Given the description of an element on the screen output the (x, y) to click on. 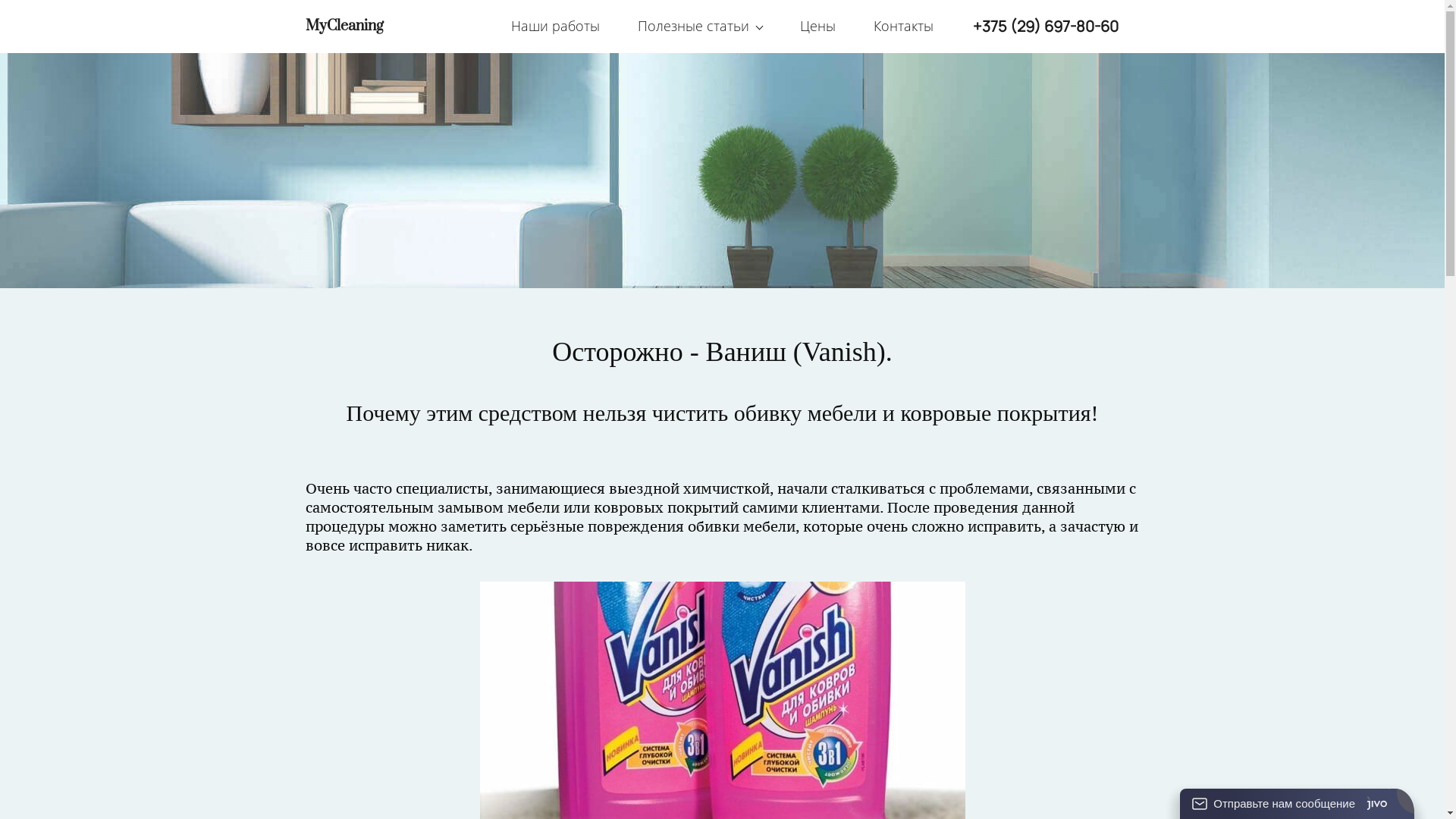
MyCleaning Element type: text (343, 25)
